Given the description of an element on the screen output the (x, y) to click on. 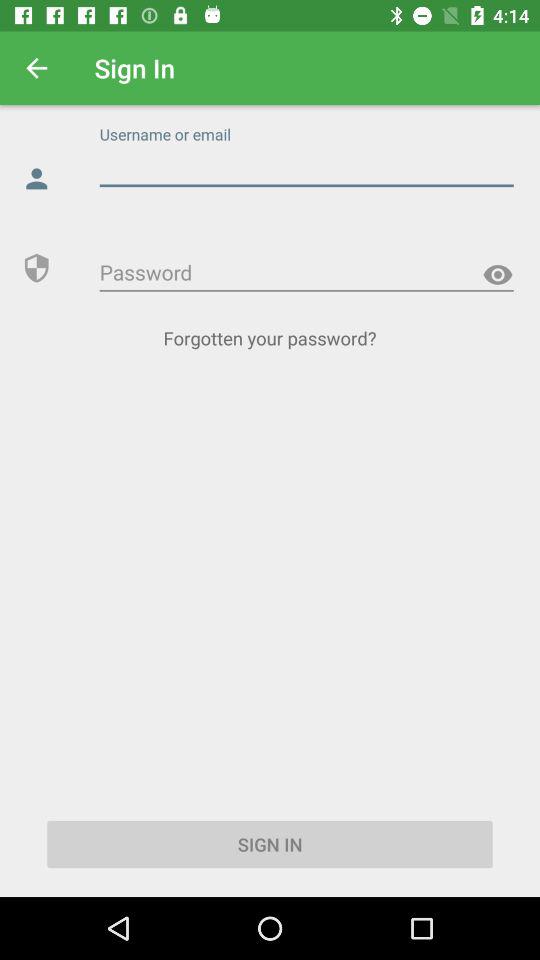
type password (306, 273)
